Given the description of an element on the screen output the (x, y) to click on. 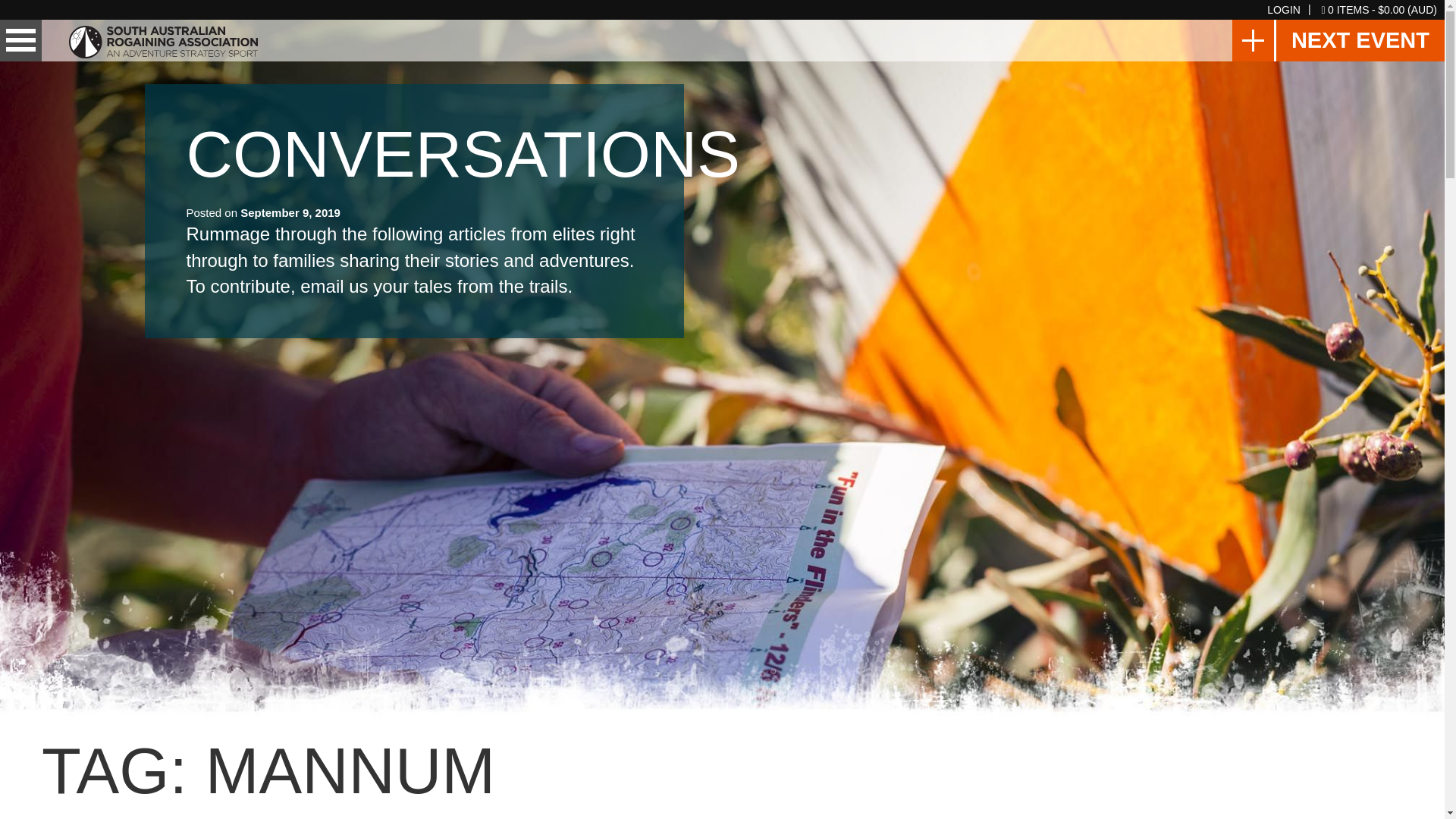
LOGIN (1283, 9)
Go to Website Home Page (162, 40)
